Given the description of an element on the screen output the (x, y) to click on. 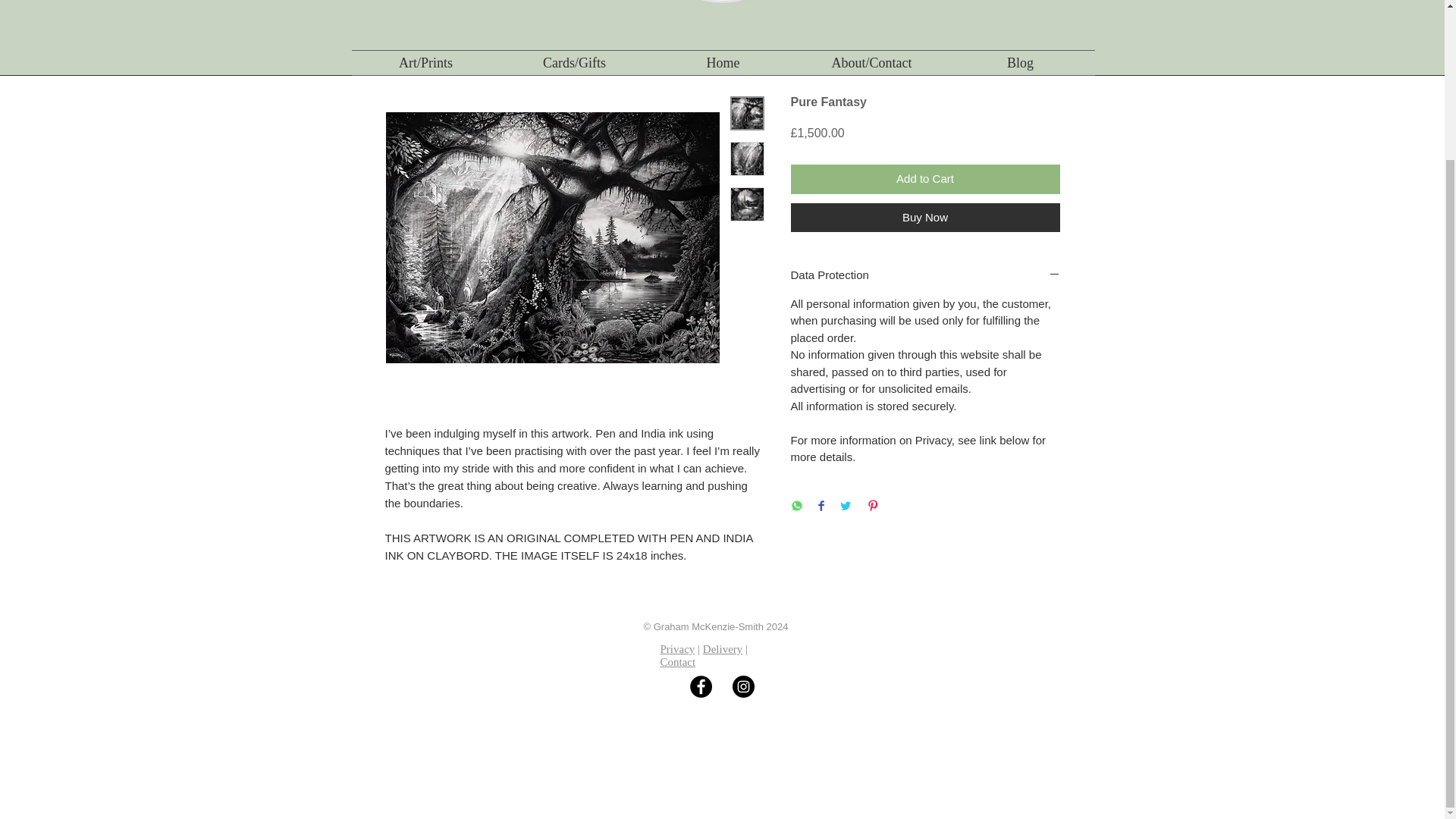
Delivery (722, 648)
Add to Cart (924, 179)
Buy Now (924, 217)
Contact (677, 662)
Data Protection (924, 275)
Privacy (676, 648)
Blog (1020, 62)
Home (723, 62)
